Given the description of an element on the screen output the (x, y) to click on. 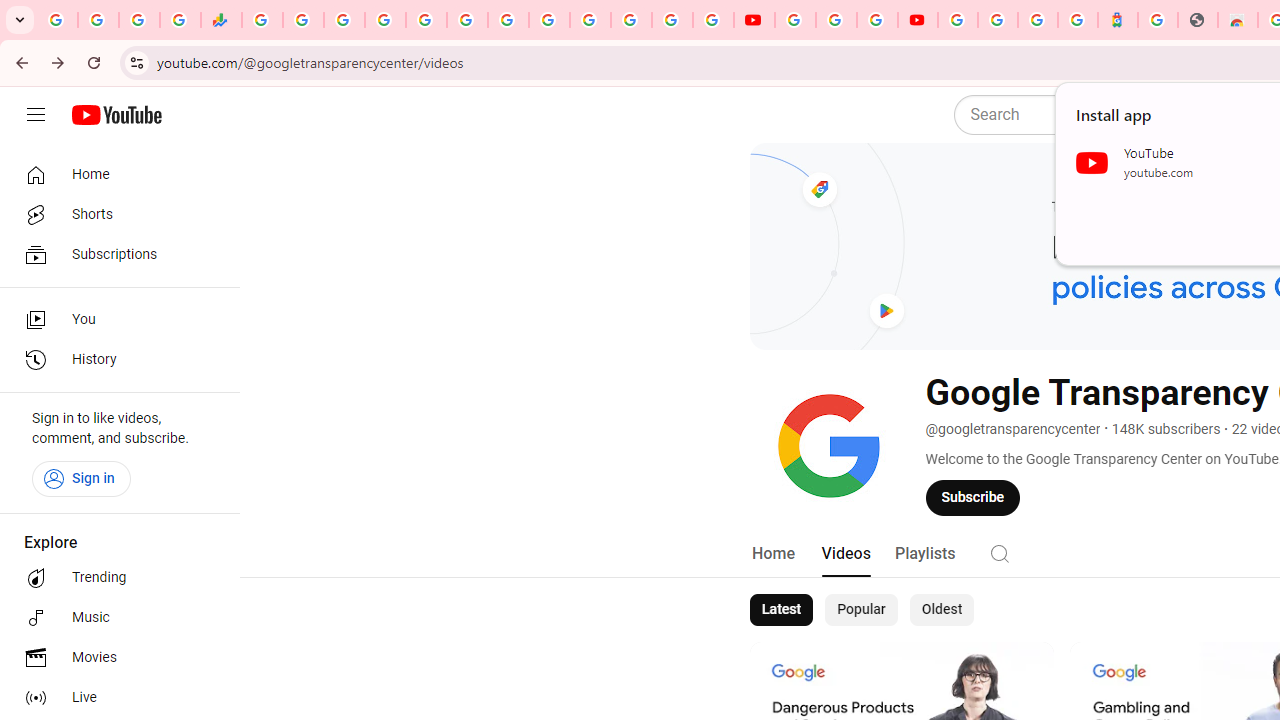
Atour Hotel - Google hotels (1117, 20)
Sign in - Google Accounts (997, 20)
Live (113, 697)
Sign in - Google Accounts (384, 20)
Home (113, 174)
